Given the description of an element on the screen output the (x, y) to click on. 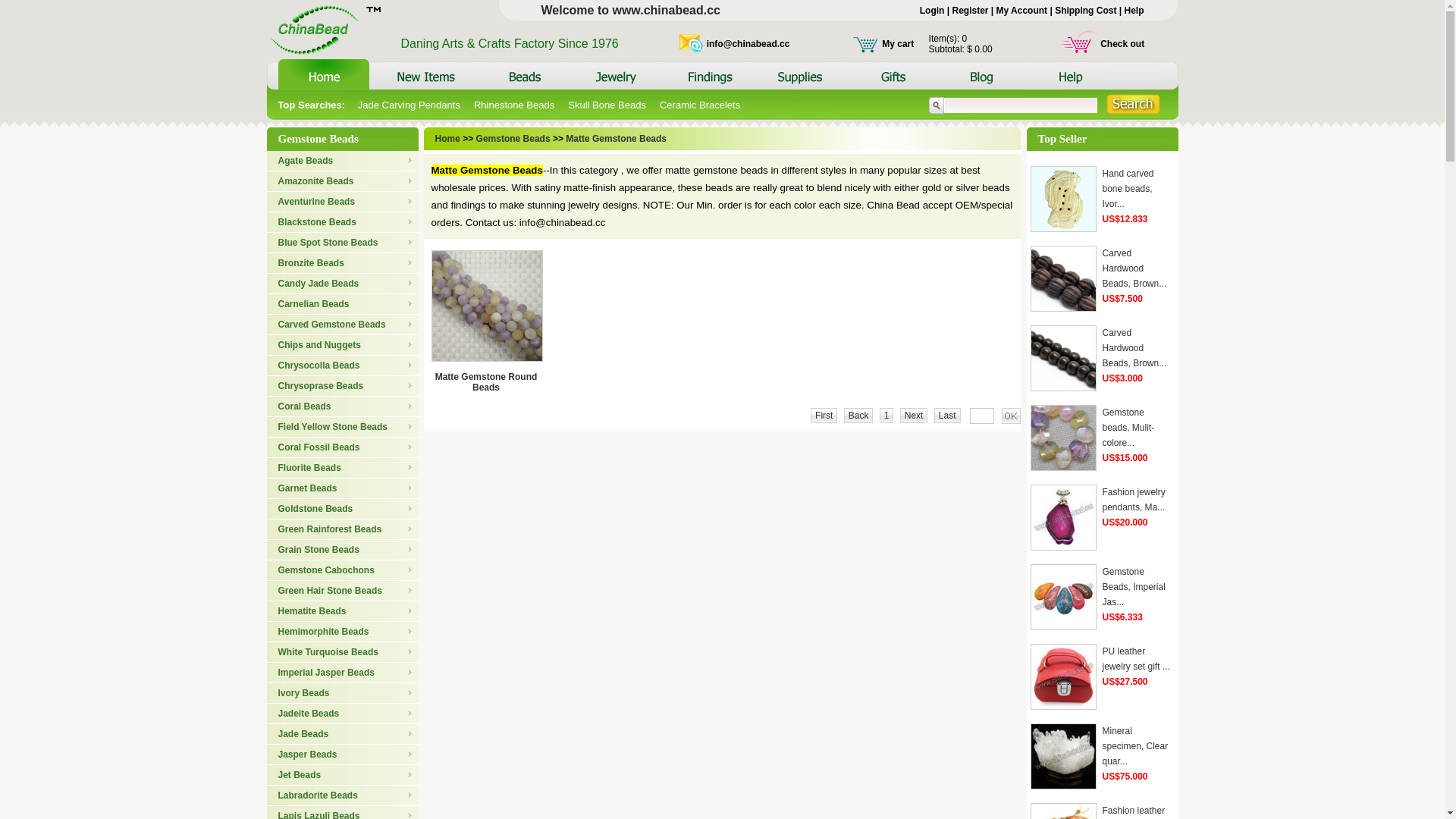
Carved Hardwood Beads, Brown... Element type: text (1134, 347)
Ivory Beads Element type: text (342, 692)
Back Element type: text (860, 415)
First Element type: text (827, 415)
Help Element type: text (1133, 10)
Fashion jewelry pendants, Ma... Element type: text (1133, 499)
My cart Element type: text (897, 42)
White Turquoise Beads Element type: text (342, 652)
Grain Stone Beads Element type: text (342, 549)
Goldstone Beads Element type: text (342, 508)
Gemstone Beads Element type: text (513, 138)
My Account Element type: text (1022, 10)
Check out Element type: text (1122, 42)
Chips and Nuggets Element type: text (342, 344)
Login Element type: text (931, 10)
Labradorite Beads Element type: text (342, 795)
Carnelian Beads Element type: text (342, 303)
Blue Spot Stone Beads Element type: text (342, 242)
Carved Gemstone Beads Element type: text (342, 324)
Next Element type: text (917, 415)
PU leather jewelry set gift ... Element type: text (1136, 658)
Jade Carving Pendants Element type: text (408, 104)
Field Yellow Stone Beads Element type: text (342, 426)
Coral Fossil Beads Element type: text (342, 447)
Candy Jade Beads Element type: text (342, 283)
Hand carved bone beads, Ivor... Element type: text (1128, 188)
Green Hair Stone Beads Element type: text (342, 590)
Agate Beads Element type: text (342, 160)
Aventurine Beads Element type: text (342, 201)
Gemstone beads, Mulit-colore... Element type: text (1128, 427)
Coral Beads Element type: text (342, 406)
info@chinabead.cc Element type: text (748, 42)
Jasper Beads Element type: text (342, 754)
Fluorite Beads Element type: text (342, 467)
Ceramic Bracelets Element type: text (699, 104)
Jade Beads Element type: text (342, 733)
Mineral specimen, Clear quar... Element type: text (1135, 745)
Garnet Beads Element type: text (342, 488)
Gemstone Beads, Imperial Jas... Element type: text (1133, 586)
Matte Gemstone Beads Element type: text (615, 138)
Blackstone Beads Element type: text (342, 222)
Skull Bone Beads Element type: text (606, 104)
Bronzite Beads Element type: text (342, 263)
Chrysoprase Beads Element type: text (342, 385)
Gemstone Cabochons Element type: text (342, 570)
Hemimorphite Beads Element type: text (342, 631)
Rhinestone Beads Element type: text (513, 104)
Home Element type: text (449, 138)
Hematite Beads Element type: text (342, 611)
Register Element type: text (969, 10)
Last Element type: text (949, 415)
Green Rainforest Beads Element type: text (342, 529)
Jet Beads Element type: text (342, 774)
Matte Gemstone Round Beads Element type: text (486, 381)
Shipping Cost Element type: text (1085, 10)
Imperial Jasper Beads Element type: text (342, 672)
Carved Hardwood Beads, Brown... Element type: text (1134, 267)
1 Element type: text (886, 415)
Jadeite Beads Element type: text (342, 713)
Chrysocolla Beads Element type: text (342, 365)
Amazonite Beads Element type: text (342, 181)
